Given the description of an element on the screen output the (x, y) to click on. 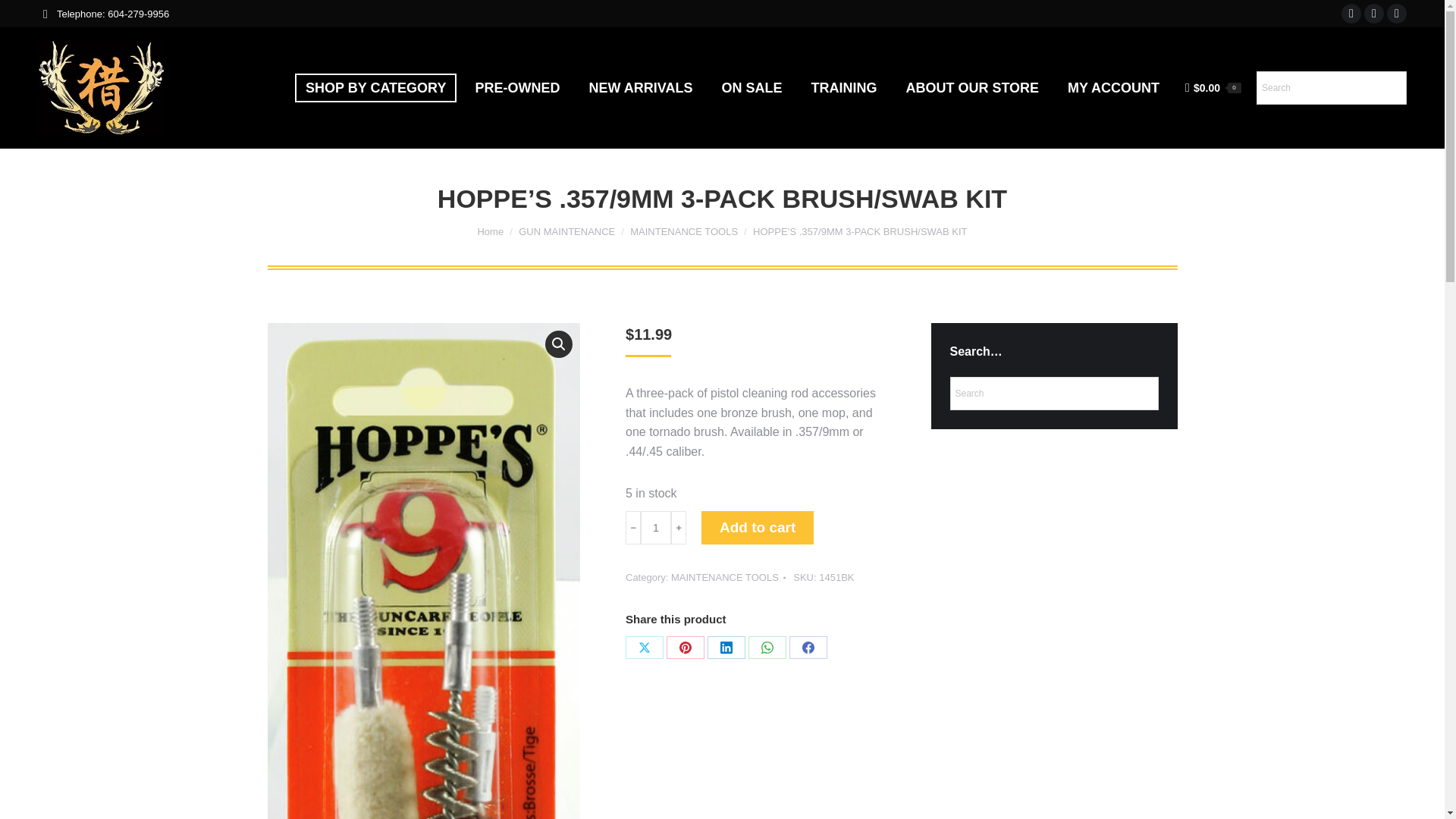
SHOP BY CATEGORY (376, 87)
Facebook page opens in new window (1350, 13)
Home (490, 231)
X page opens in new window (1374, 13)
1 (655, 527)
MAINTENANCE TOOLS (684, 231)
Facebook page opens in new window (1350, 13)
GUN MAINTENANCE (566, 231)
Pinterest page opens in new window (1396, 13)
Pinterest page opens in new window (1396, 13)
X page opens in new window (1374, 13)
